Given the description of an element on the screen output the (x, y) to click on. 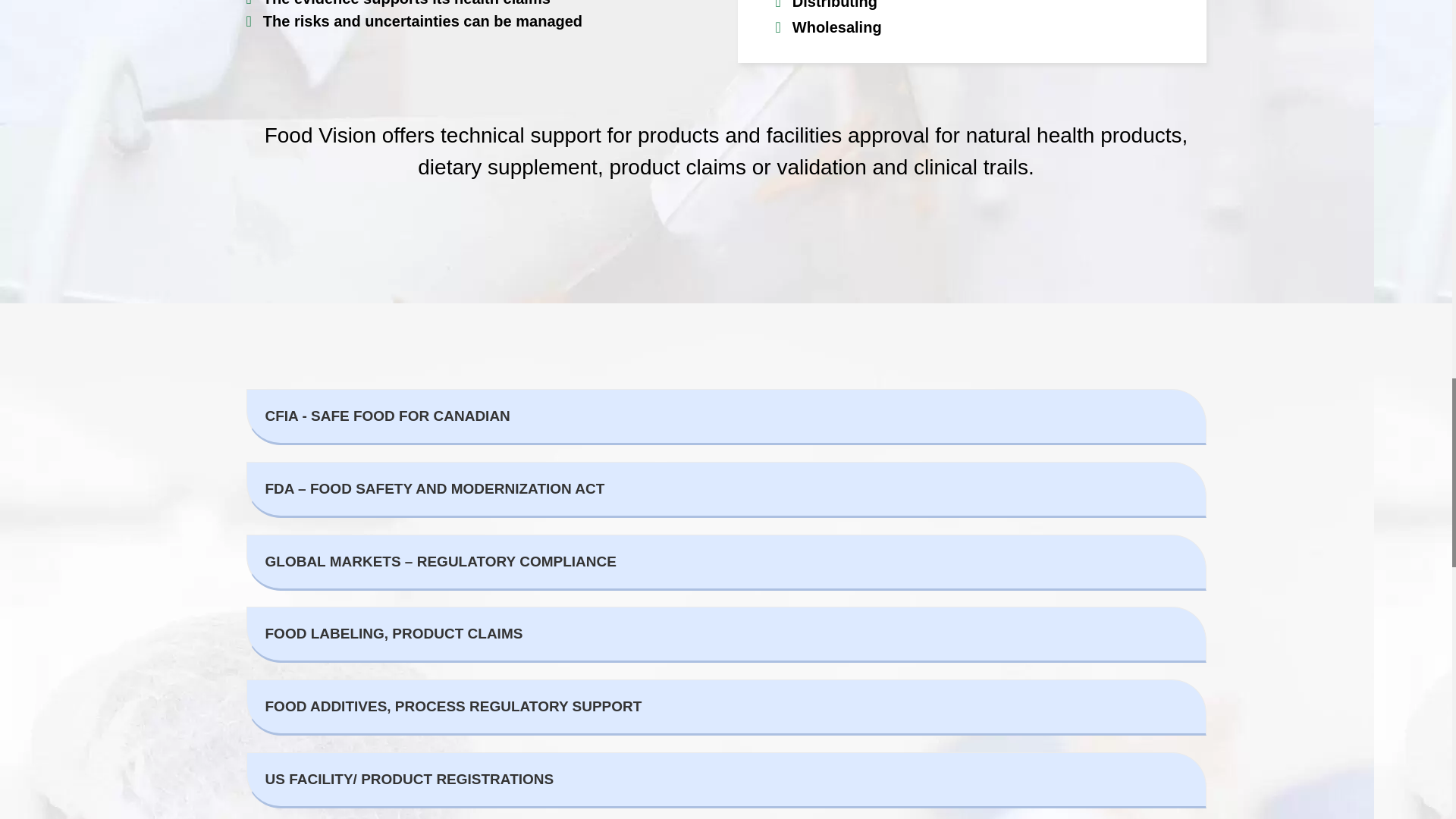
CFIA - Safe Food for Canadian (725, 417)
Food Additives, Process Regulatory Support (725, 707)
Food Labeling, Product Claims (725, 634)
